Given the description of an element on the screen output the (x, y) to click on. 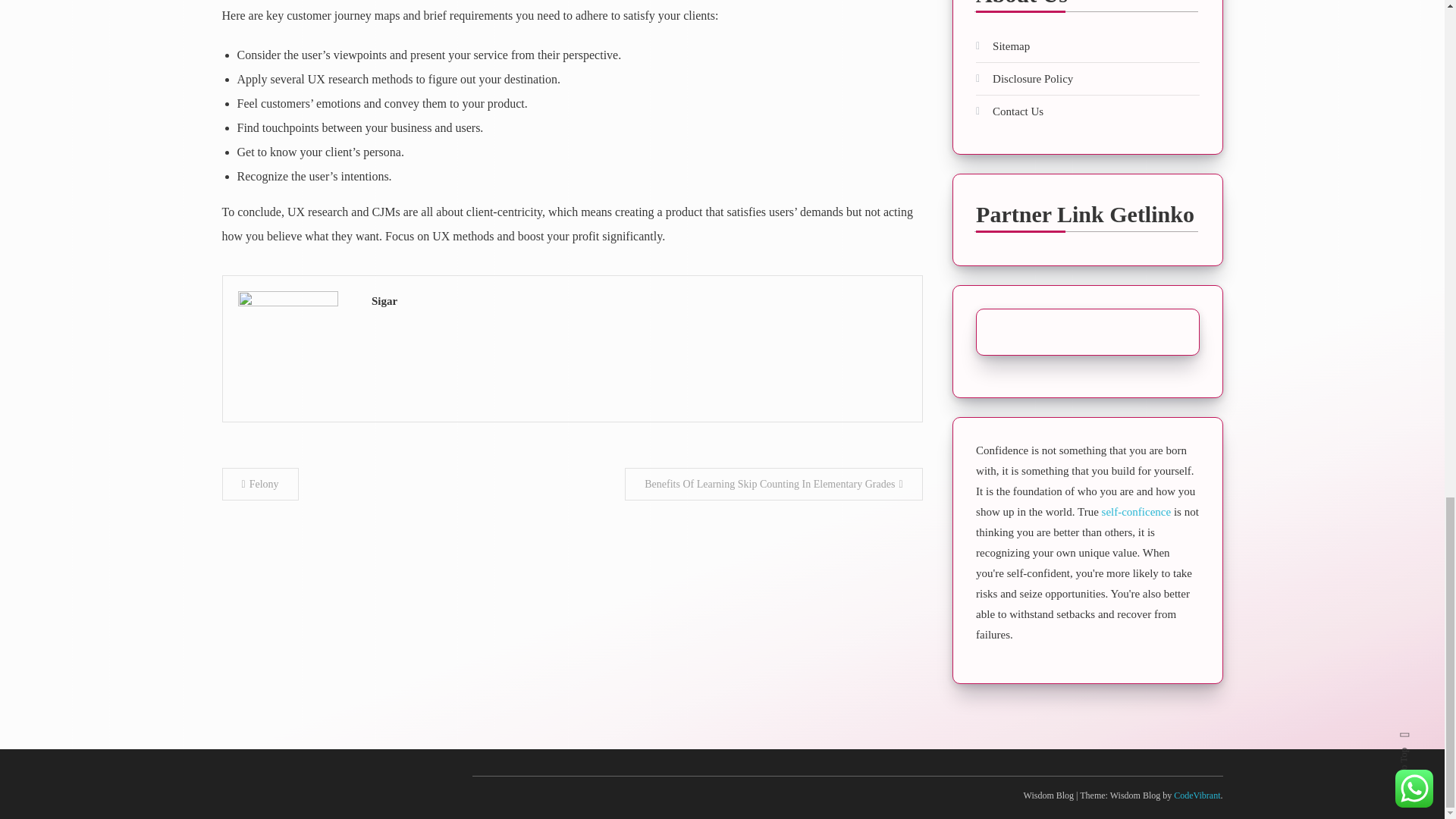
Felony (259, 483)
Sigar (639, 301)
Benefits Of Learning Skip Counting In Elementary Grades (772, 483)
